Given the description of an element on the screen output the (x, y) to click on. 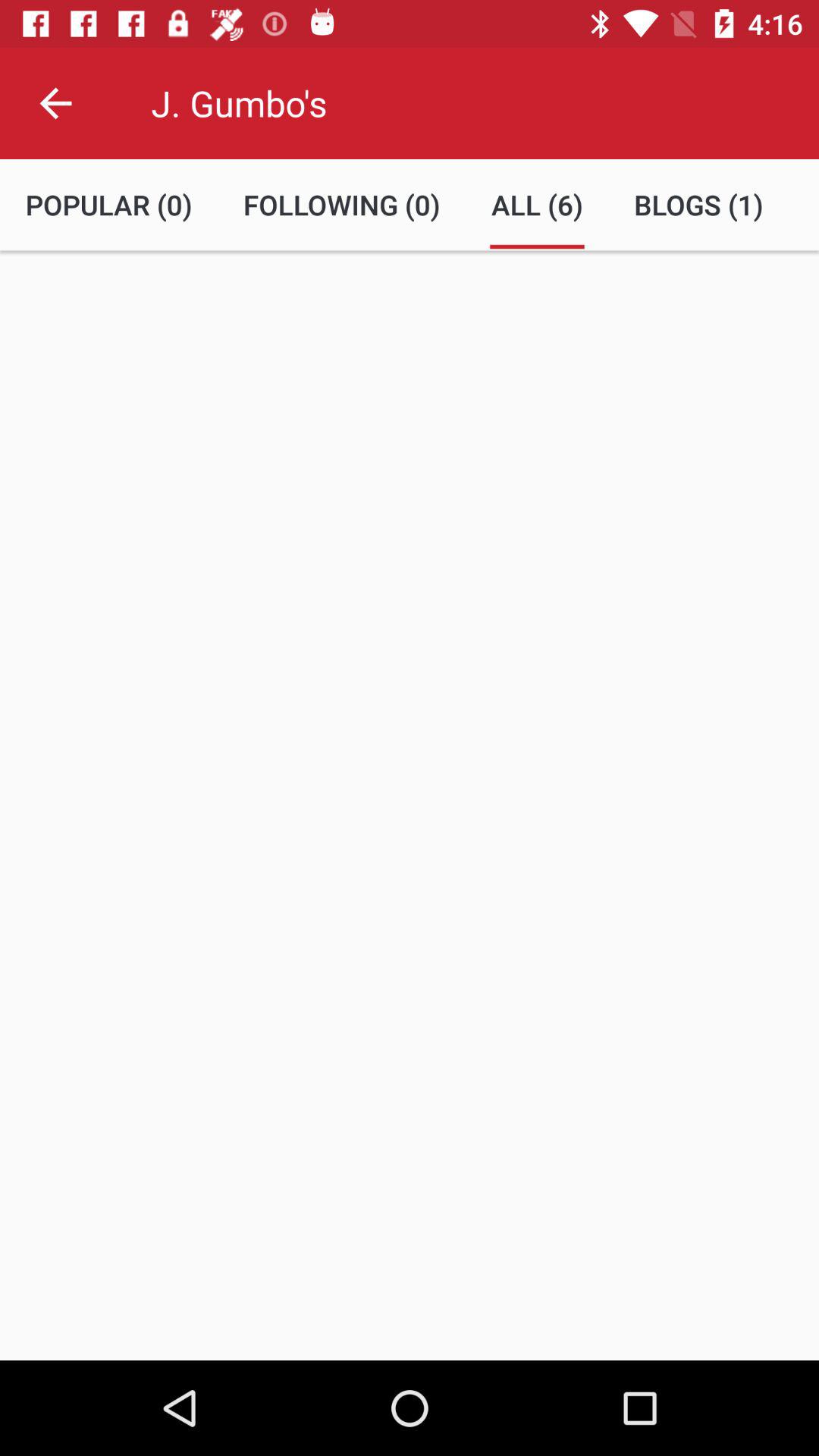
select icon next to following (0) icon (536, 204)
